Given the description of an element on the screen output the (x, y) to click on. 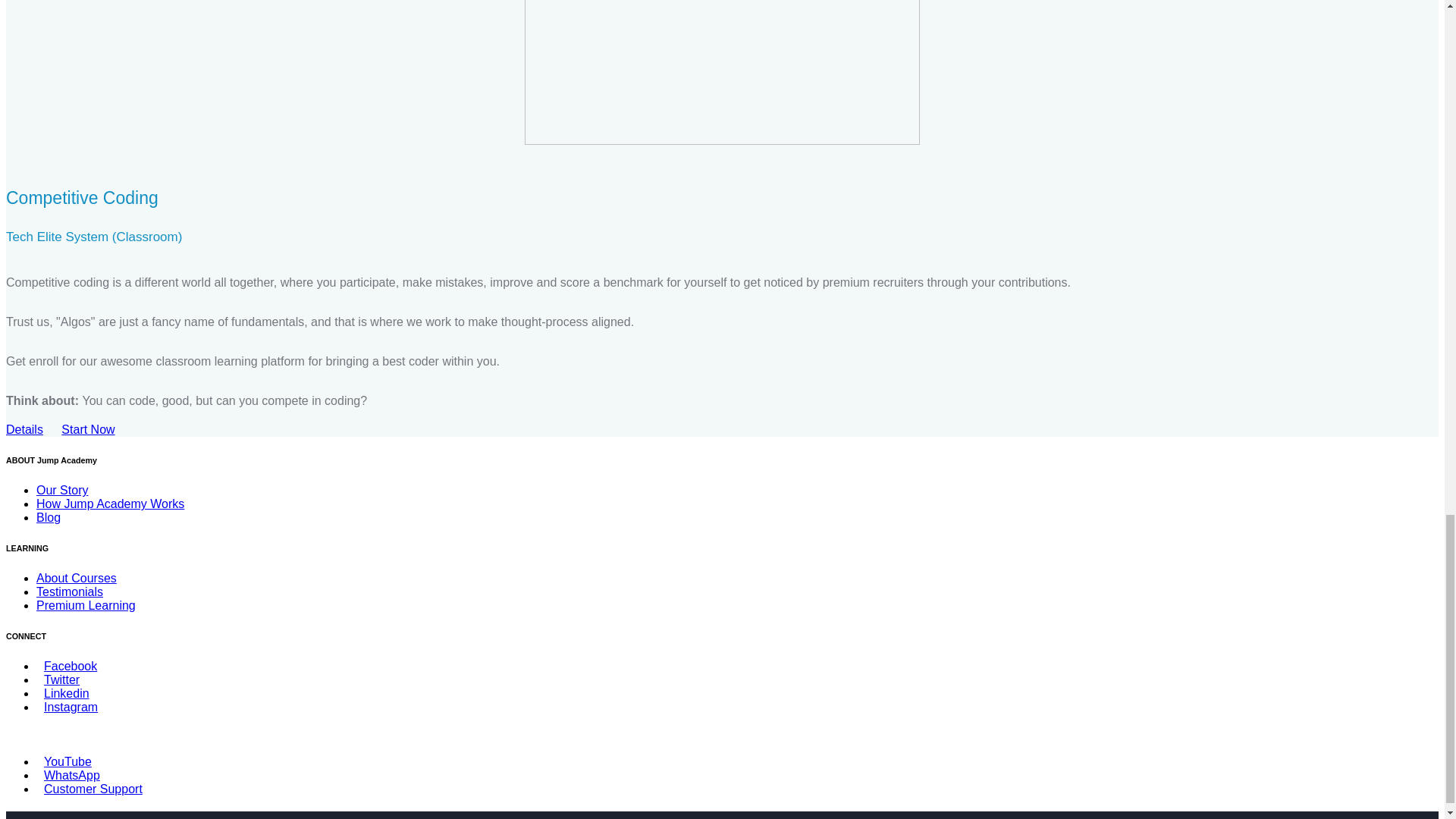
Testimonials (69, 591)
Twitter (58, 679)
Blog (48, 517)
YouTube (63, 761)
Premium Learning (85, 604)
Instagram (66, 707)
Linkedin (62, 693)
Our Story (61, 490)
Details (24, 429)
How Jump Academy Works (110, 503)
